Given the description of an element on the screen output the (x, y) to click on. 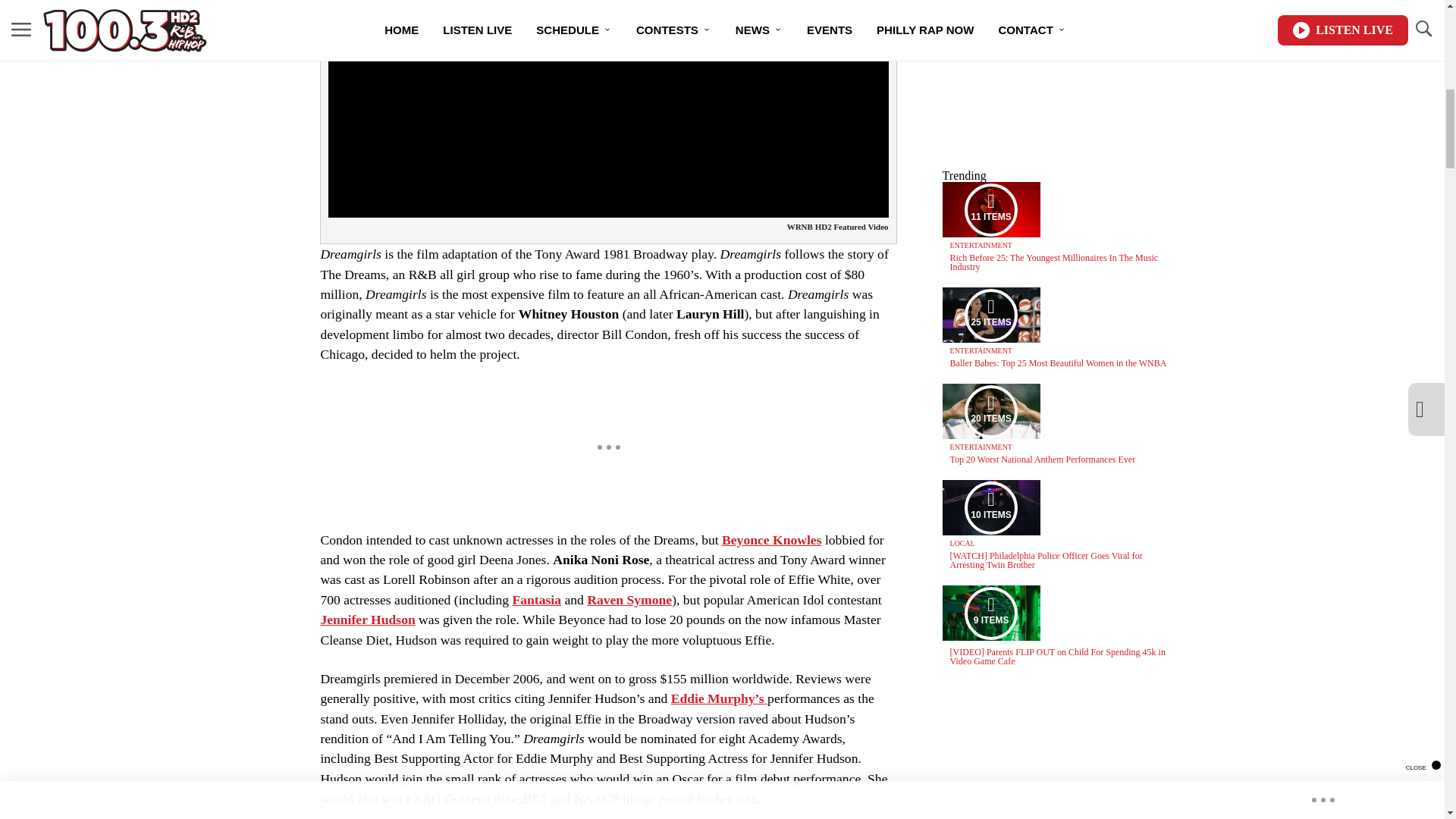
Media Playlist (990, 209)
Media Playlist (990, 506)
Media Playlist (990, 314)
Media Playlist (990, 411)
Media Playlist (990, 613)
